Given the description of an element on the screen output the (x, y) to click on. 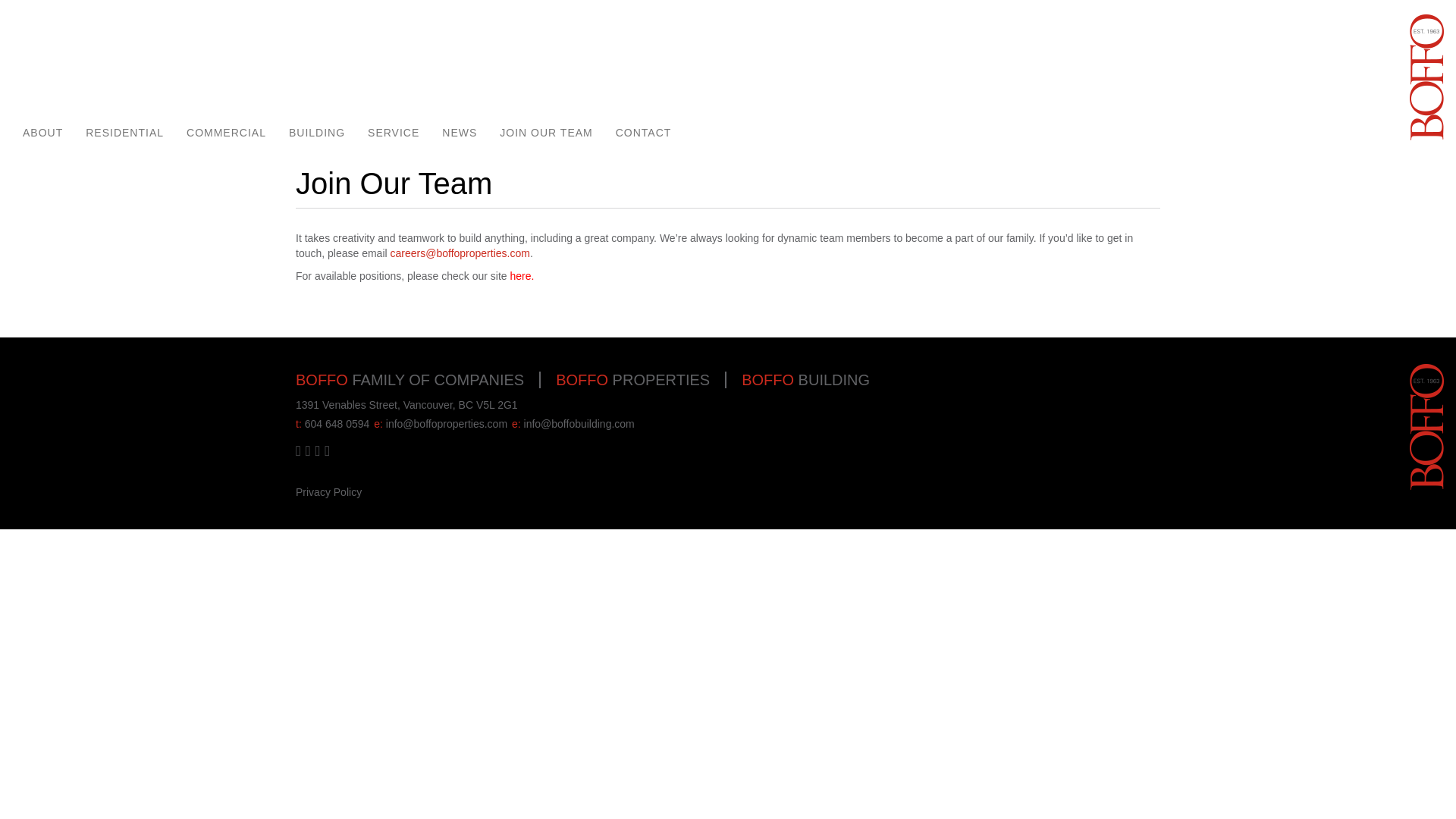
JOIN OUR TEAM (545, 132)
SERVICE (393, 132)
COMMERCIAL (226, 132)
Privacy Policy (328, 491)
BUILDING (317, 132)
RESIDENTIAL (124, 132)
NEWS (458, 132)
here (520, 275)
Boffo Properties Job Postings (520, 275)
CONTACT (643, 132)
